Given the description of an element on the screen output the (x, y) to click on. 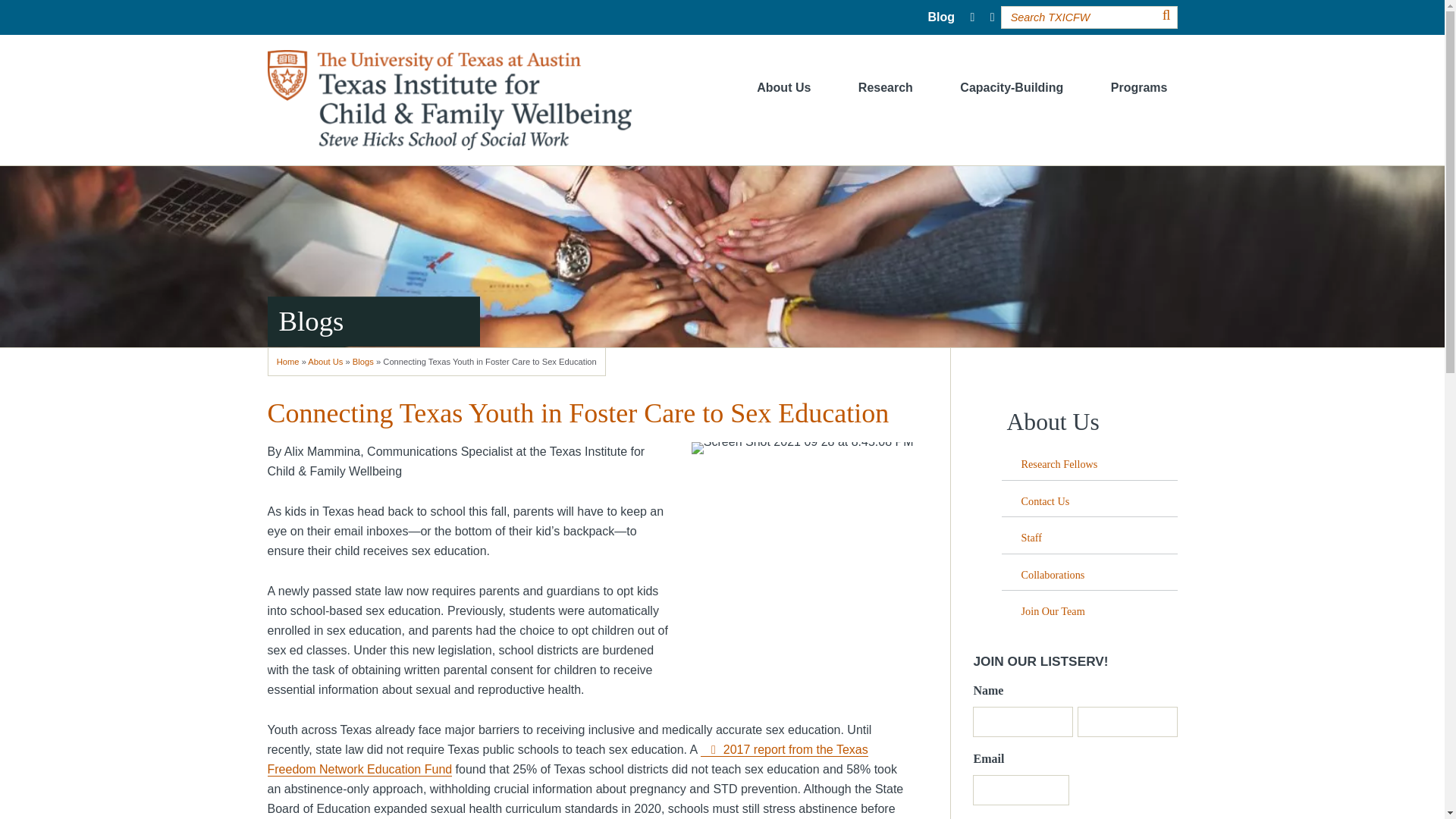
Search (1165, 14)
Programs (1138, 87)
Capacity-Building (1011, 88)
About Us (783, 87)
Research (885, 87)
Blog (940, 16)
